Given the description of an element on the screen output the (x, y) to click on. 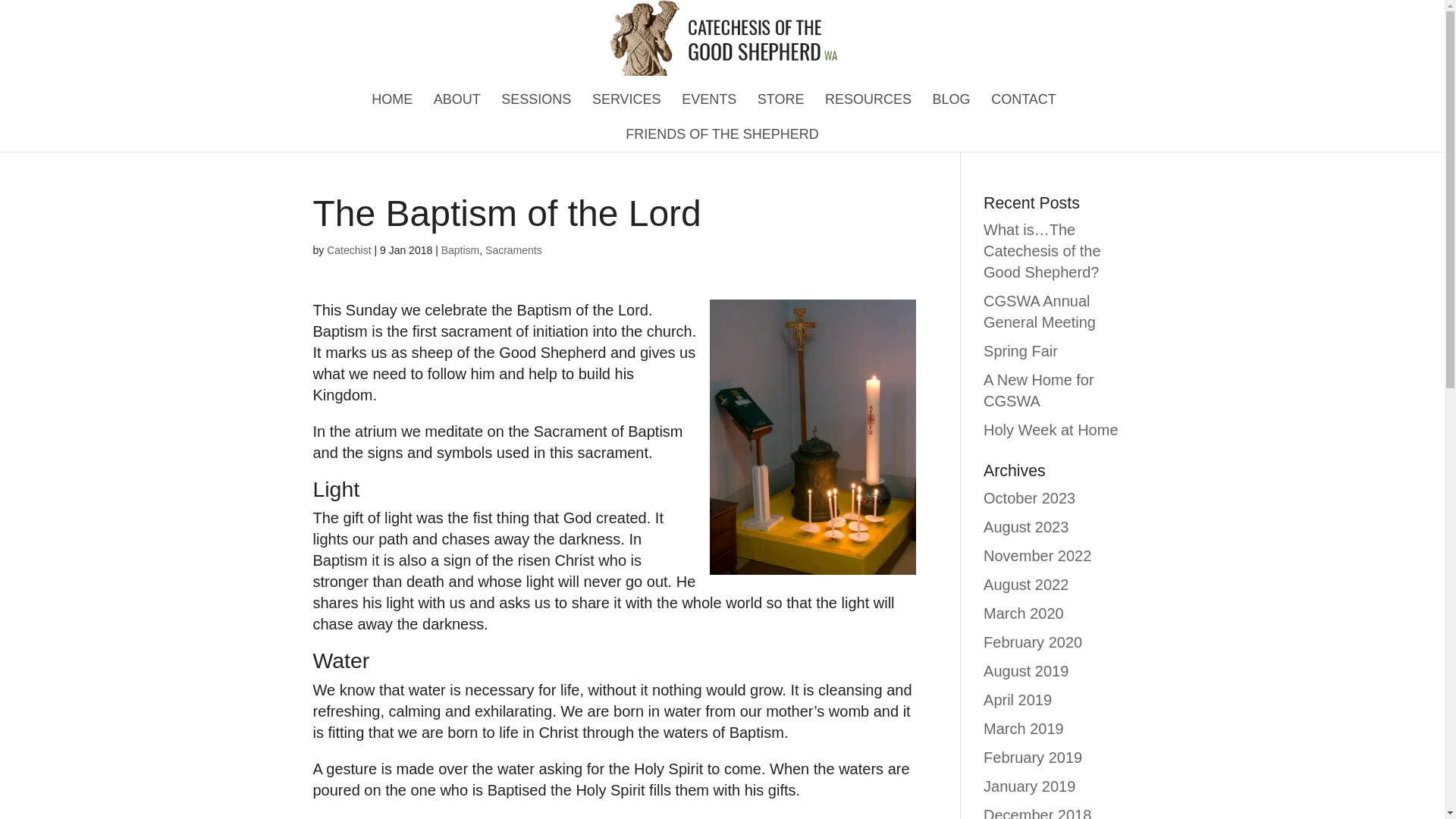
CONTACT (1024, 99)
Posts by Catechist (348, 250)
February 2020 (1032, 641)
SERVICES (626, 99)
Spring Fair (1021, 351)
ABOUT (456, 99)
CGSWA Annual General Meeting (1040, 311)
STORE (781, 99)
RESOURCES (868, 99)
Baptism (460, 250)
April 2019 (1017, 699)
January 2019 (1029, 786)
August 2022 (1026, 584)
BLOG (952, 99)
EVENTS (708, 99)
